Given the description of an element on the screen output the (x, y) to click on. 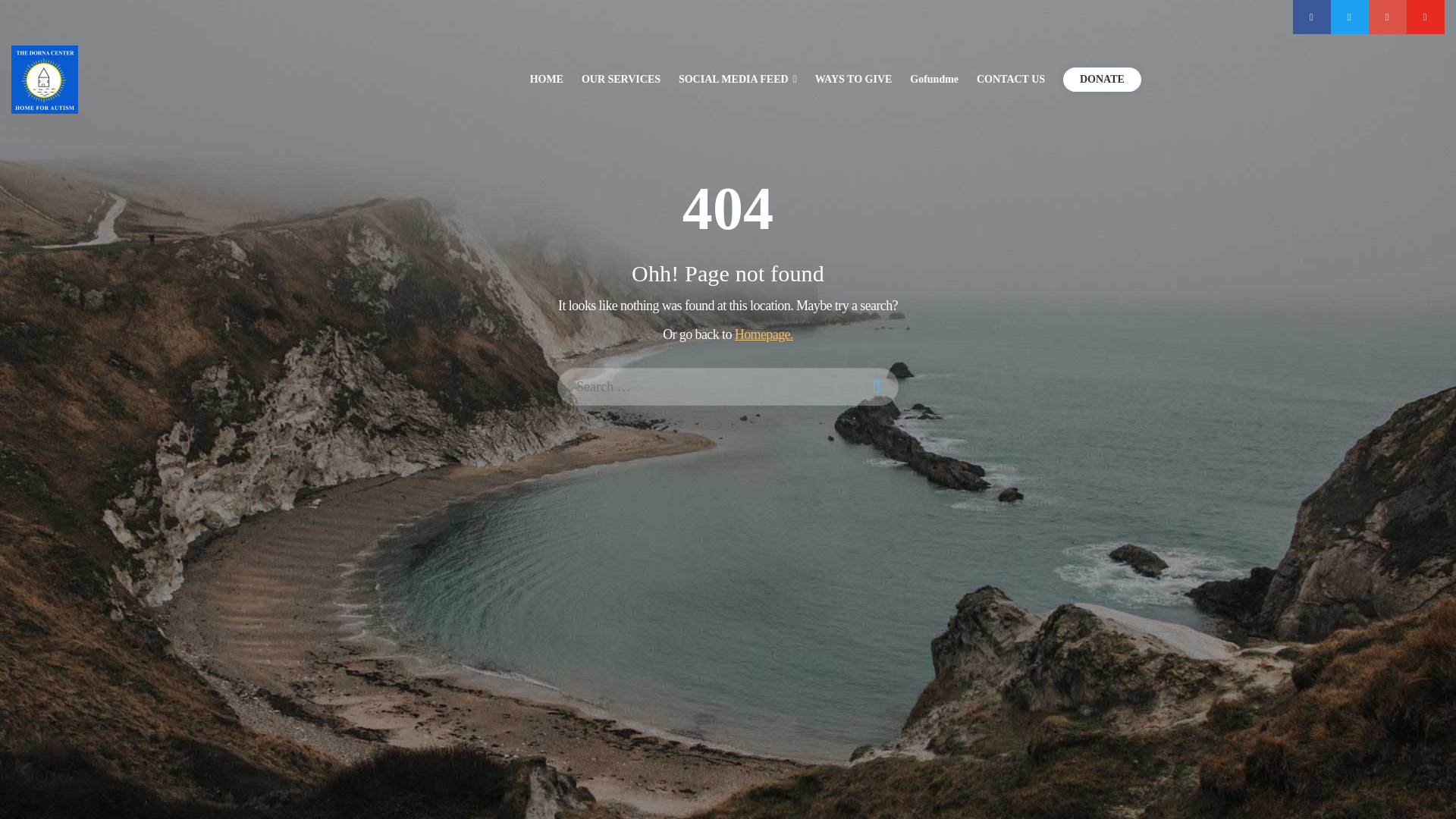
SOCIAL MEDIA FEED (737, 79)
DONATE (1101, 79)
WAYS TO GIVE (853, 79)
CONTACT US (1010, 79)
Gofundme (934, 79)
Homepage. (764, 334)
HOME (546, 79)
Search (22, 14)
OUR SERVICES (620, 79)
